Given the description of an element on the screen output the (x, y) to click on. 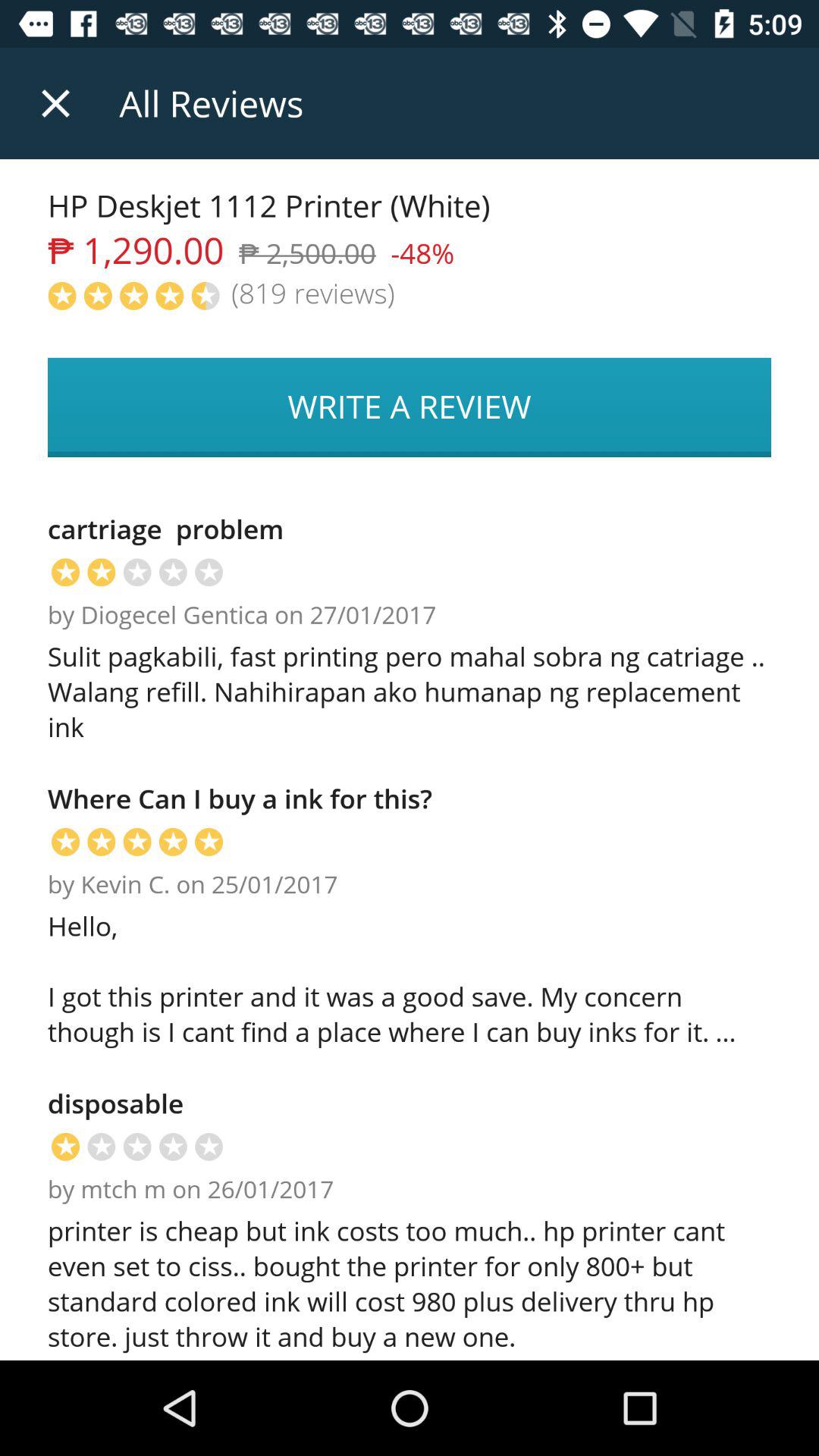
click item to the left of all reviews app (55, 103)
